Given the description of an element on the screen output the (x, y) to click on. 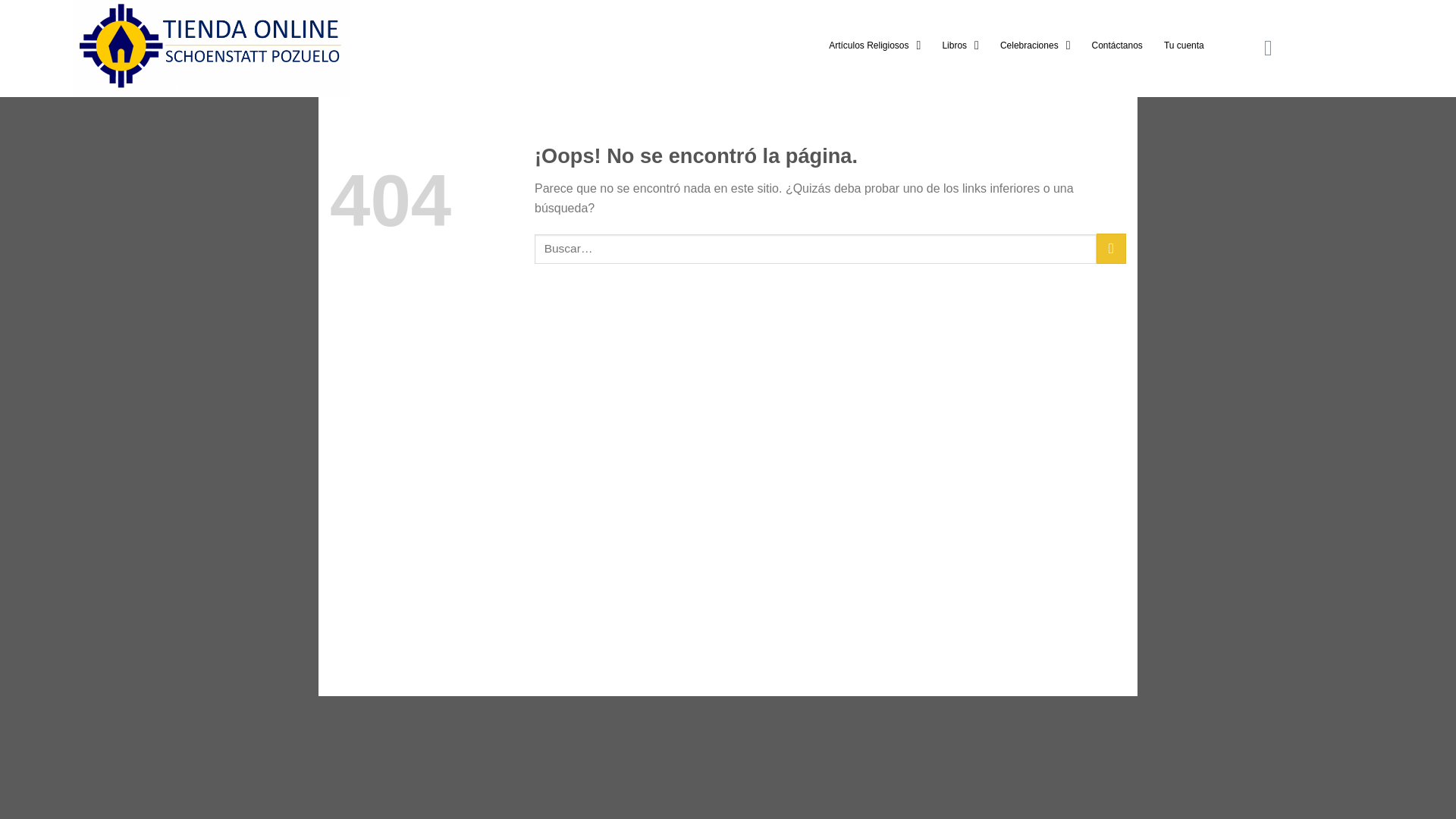
Tu cuenta (1183, 45)
Libros (960, 45)
Celebraciones (1035, 45)
